Given the description of an element on the screen output the (x, y) to click on. 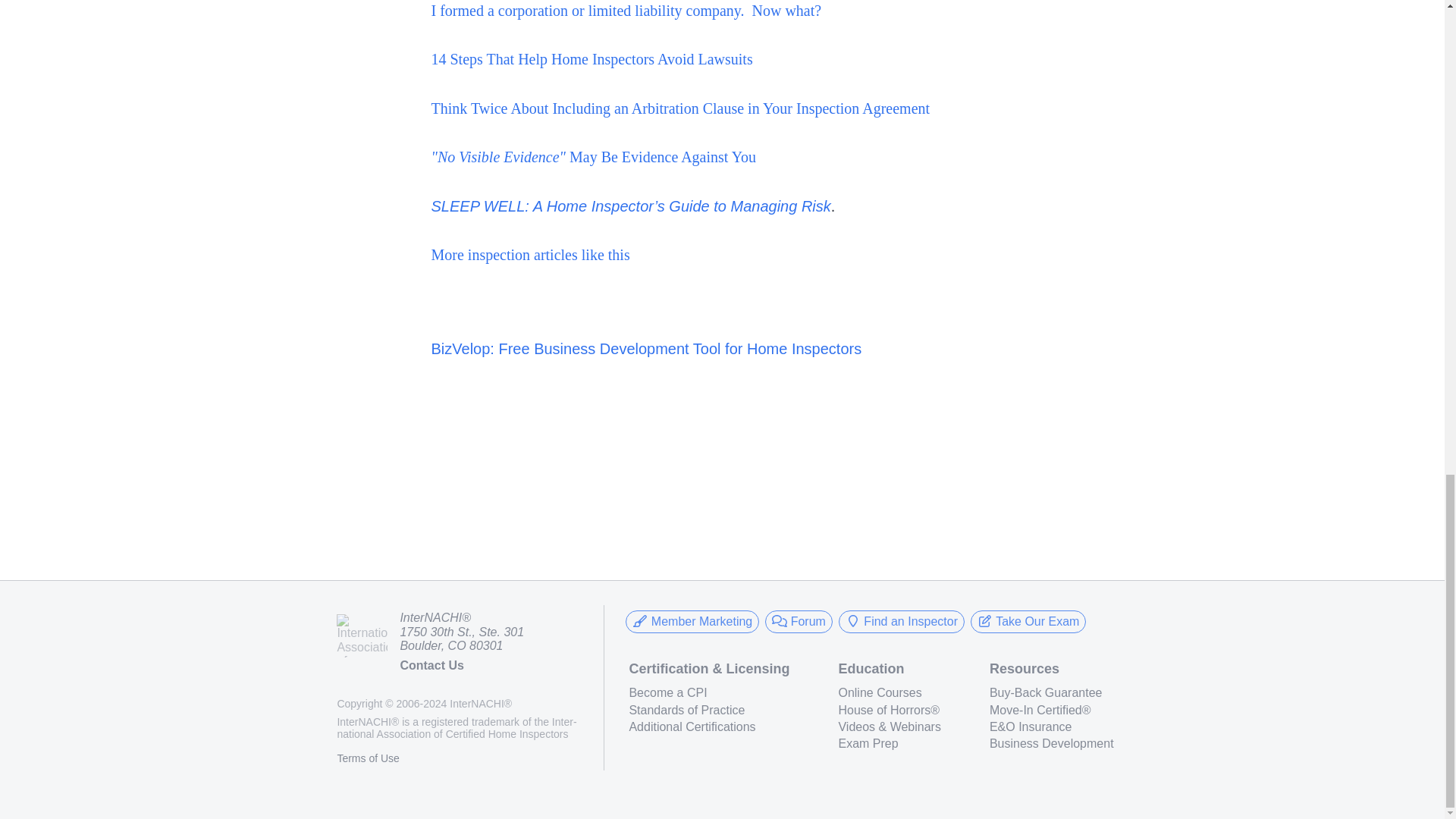
Buy-Back Guarantee (1051, 693)
Contact Us (430, 665)
Forum (798, 621)
Become a CPI (708, 693)
Find an Inspector (900, 621)
14 Steps That Help Home Inspectors Avoid Lawsuits (591, 58)
Terms of Use (367, 758)
Additional Certifications (708, 726)
More inspection articles like this (529, 254)
BizVelop: Free Business Development Tool for Home Inspectors (645, 348)
Member Marketing (692, 621)
Take Our Exam (1028, 621)
"No Visible Evidence" May Be Evidence Against You  (595, 156)
